Given the description of an element on the screen output the (x, y) to click on. 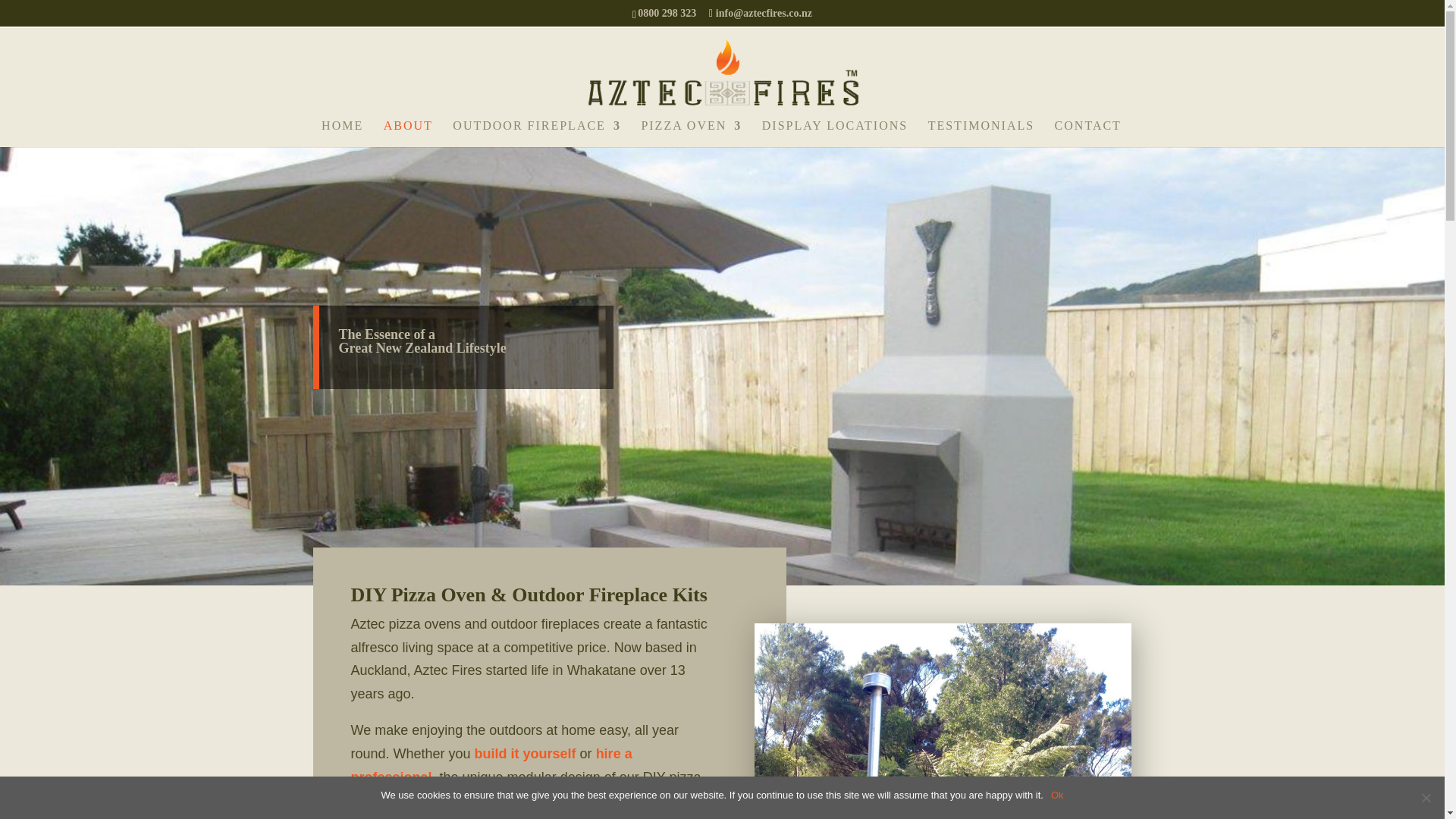
OUTDOOR FIREPLACE (536, 133)
hire a professional (490, 765)
PIZZA OVEN (690, 133)
HOME (341, 133)
No (1425, 797)
Pizza Oven (942, 721)
DISPLAY LOCATIONS (834, 133)
0800 298 323 (668, 12)
ABOUT (408, 133)
CONTACT (1087, 133)
